Given the description of an element on the screen output the (x, y) to click on. 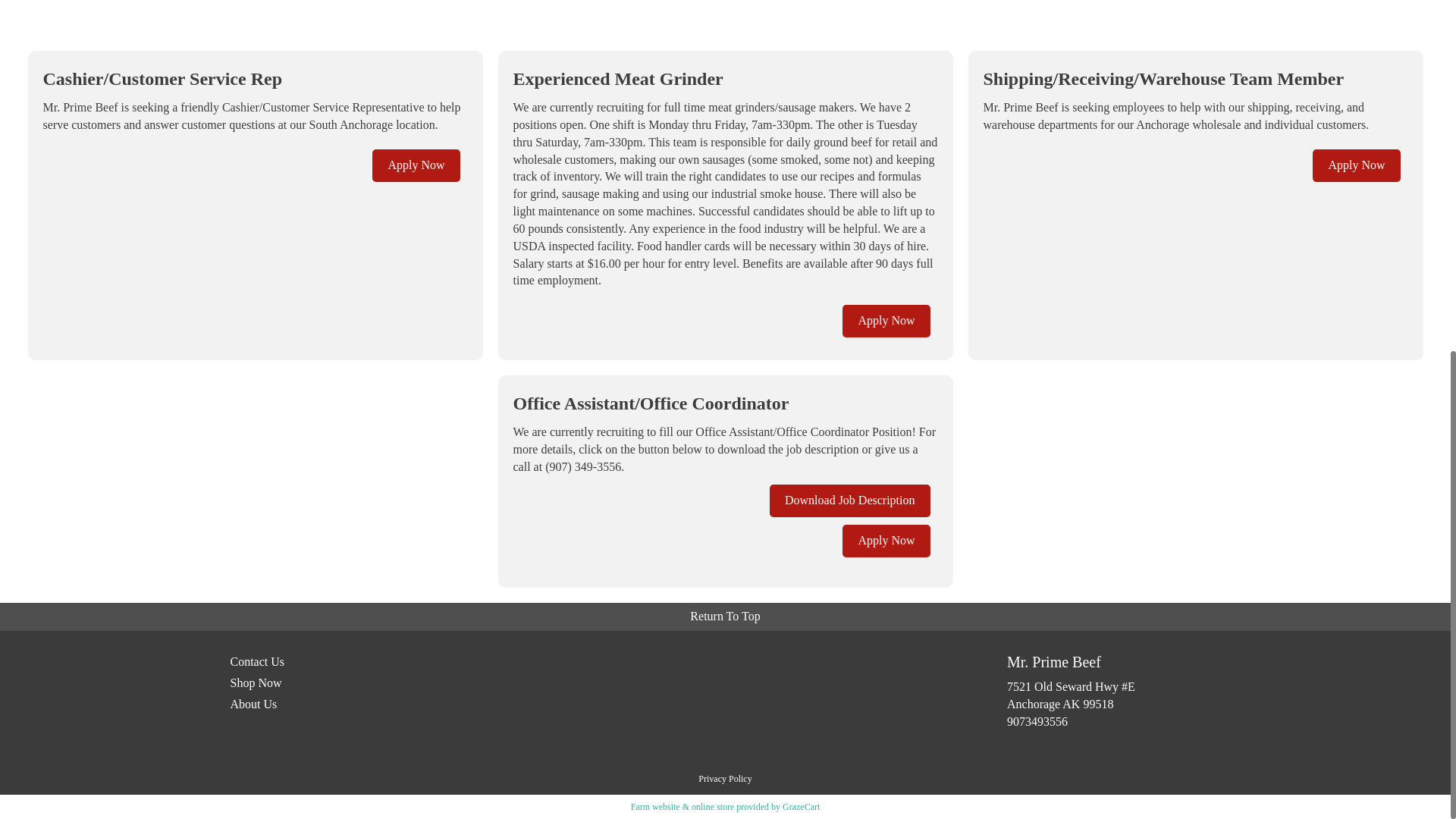
About Us (337, 706)
Shop Now (337, 685)
Apply Now (416, 165)
Download Job Description (850, 500)
Privacy Policy (724, 778)
Return To Top (724, 616)
GrazeCart (801, 806)
Apply Now (886, 540)
Apply Now (1356, 165)
Apply Now (886, 320)
